Given the description of an element on the screen output the (x, y) to click on. 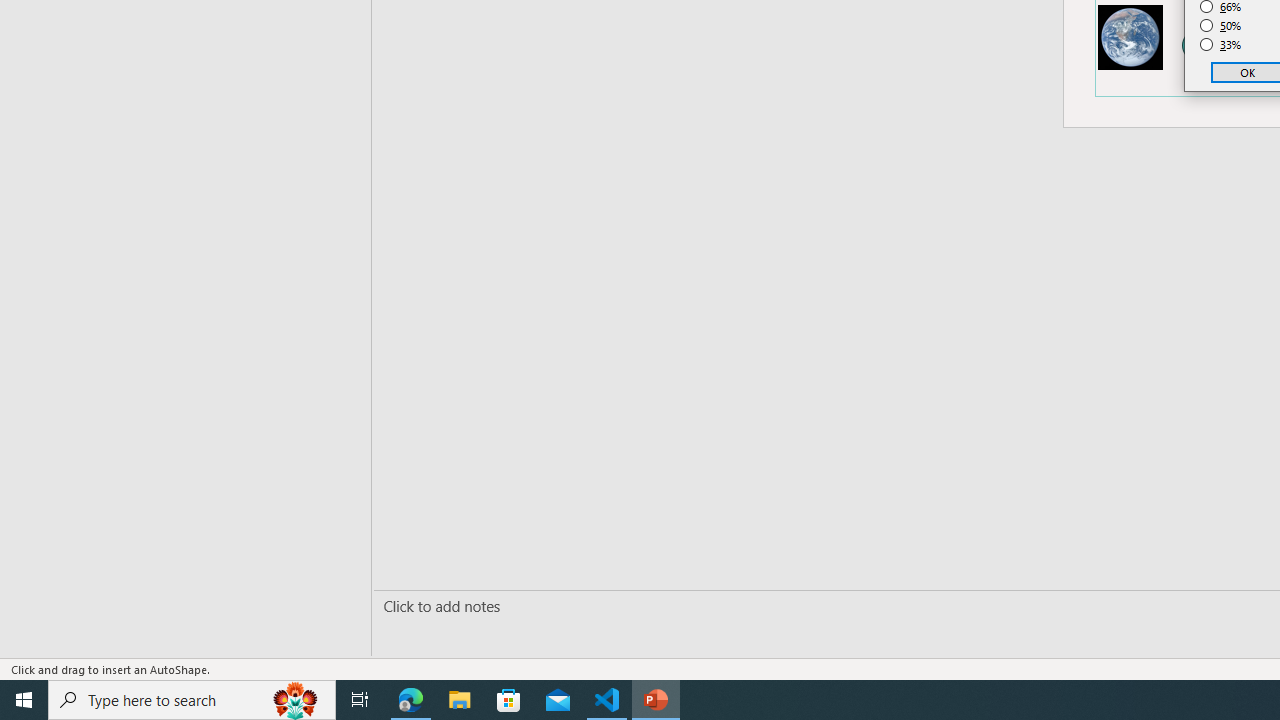
50% (1221, 25)
Microsoft Edge - 1 running window (411, 699)
33% (1221, 44)
